Given the description of an element on the screen output the (x, y) to click on. 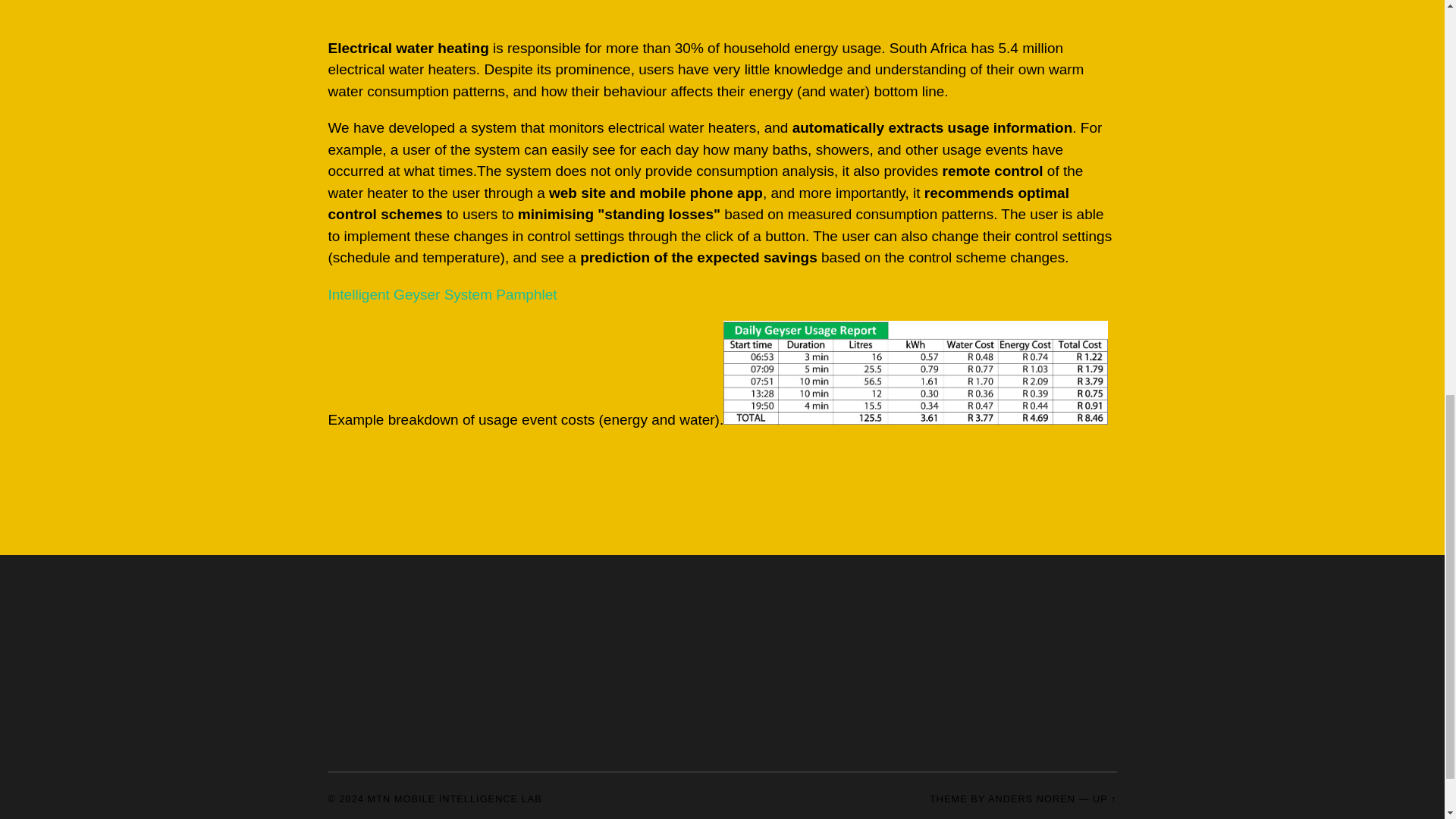
To the top (1104, 798)
Intelligent Geyser System Pamphlet (441, 294)
